Given the description of an element on the screen output the (x, y) to click on. 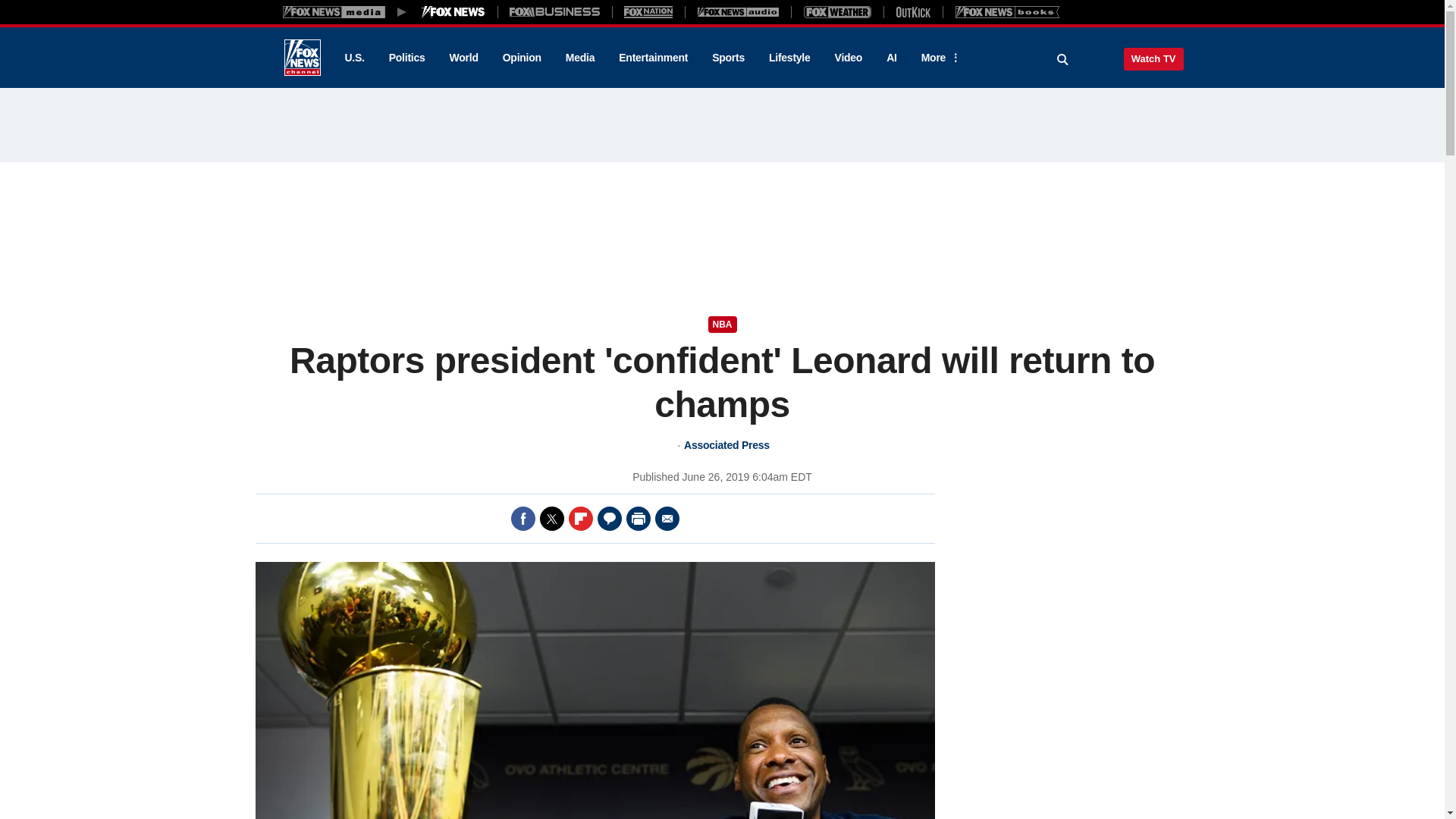
Watch TV (1153, 58)
Fox Weather (836, 11)
Fox Nation (648, 11)
More (938, 57)
Politics (407, 57)
U.S. (353, 57)
Books (1007, 11)
Fox News Audio (737, 11)
Video (848, 57)
Outkick (912, 11)
